Given the description of an element on the screen output the (x, y) to click on. 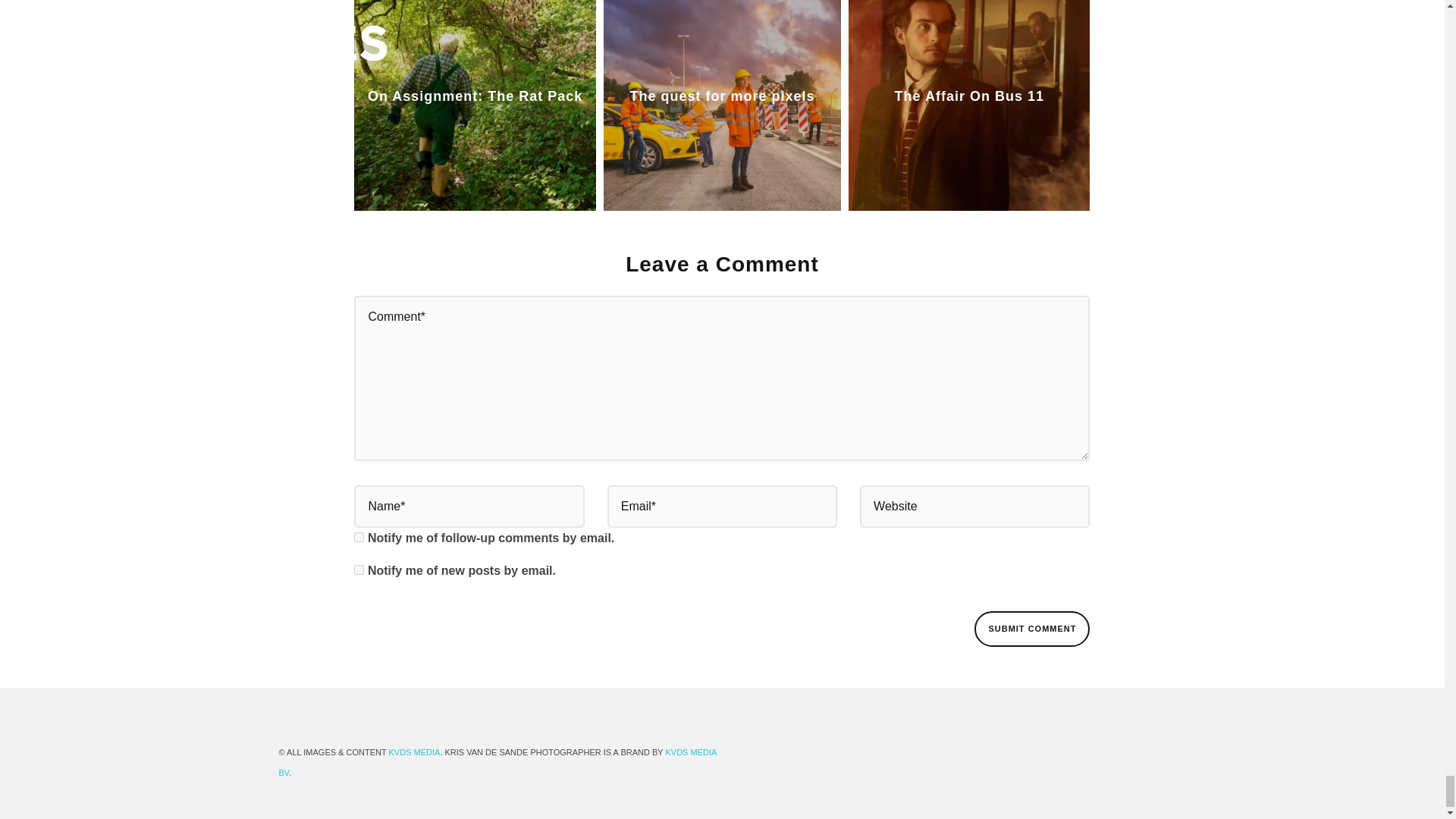
Submit Comment (1031, 628)
subscribe (358, 569)
KVDS MEDIA BV (497, 762)
The quest for more pixels (720, 96)
KVDS MEDIA (414, 751)
subscribe (358, 537)
Submit Comment (1031, 628)
On Assignment: The Rat Pack (475, 96)
The Affair On Bus 11 (969, 96)
